Given the description of an element on the screen output the (x, y) to click on. 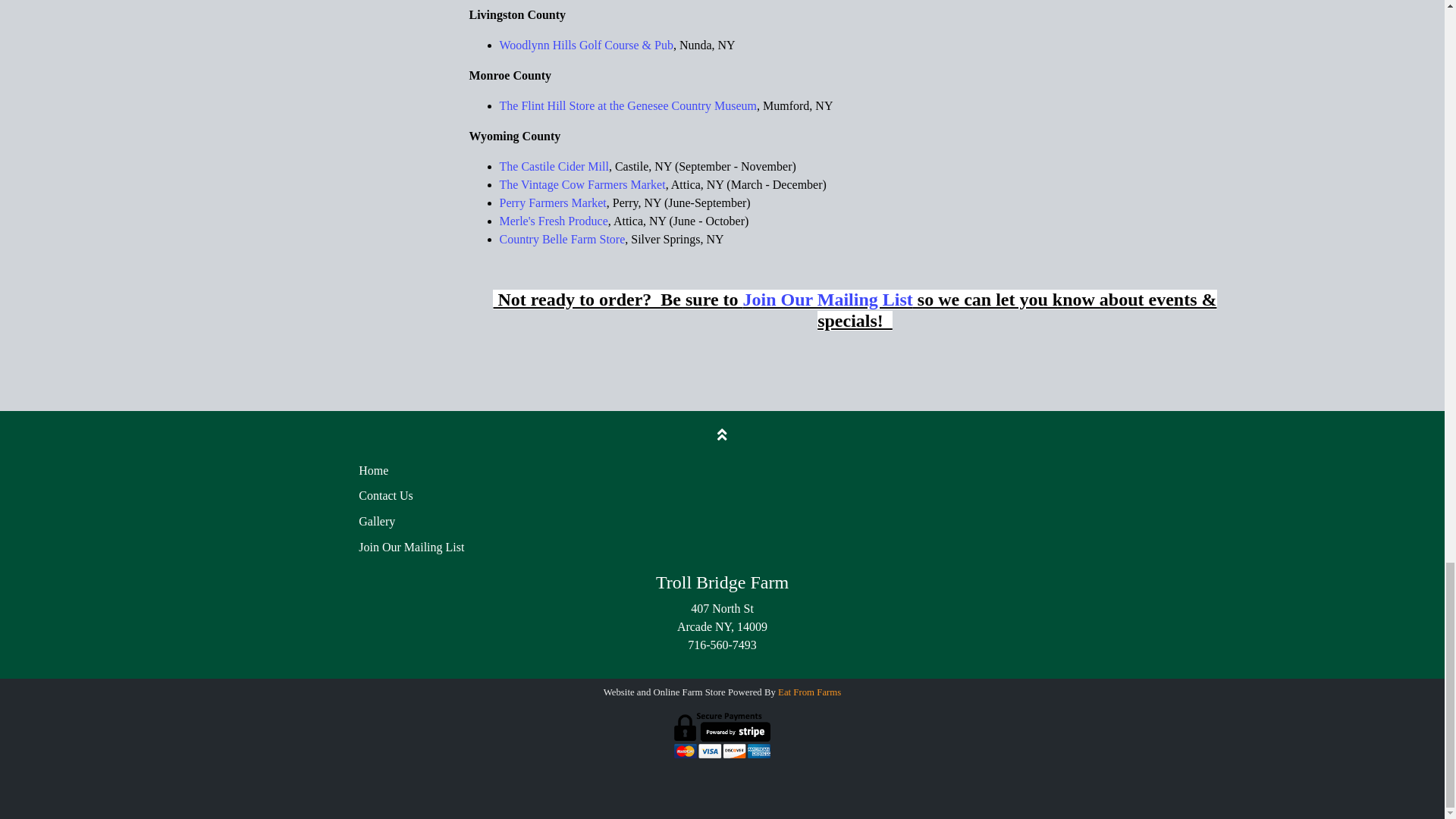
Join Our Mailing List (827, 298)
